Given the description of an element on the screen output the (x, y) to click on. 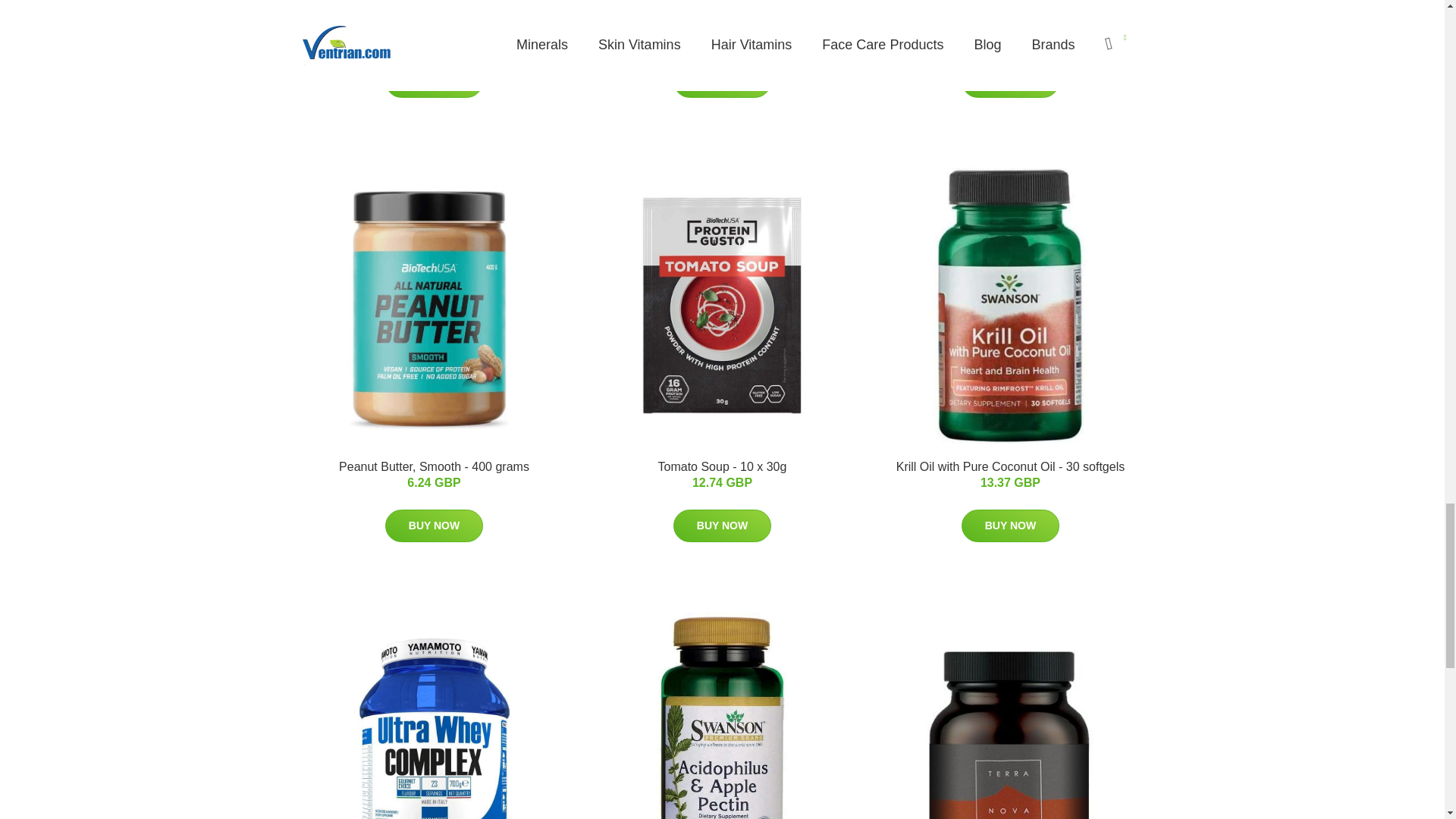
Q10 Coenzyme, 100mg - 60 caps (1010, 21)
BUY NOW (721, 81)
BUY NOW (434, 81)
CA-HMB 3000 - 200 grams (721, 21)
Nuts and Fruits Bar - 28 x 40g (434, 21)
